Given the description of an element on the screen output the (x, y) to click on. 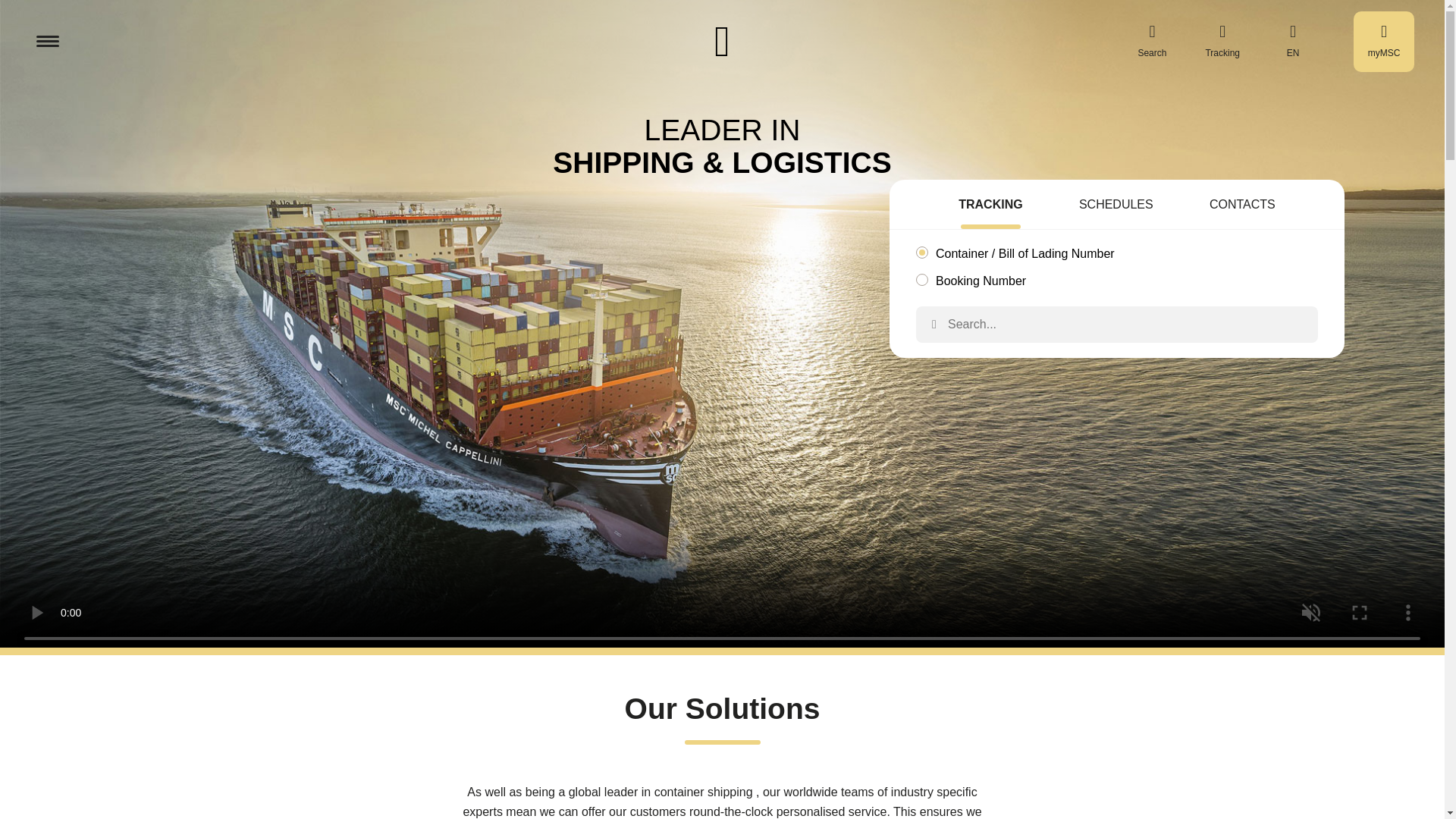
TRACKING (989, 205)
CONTACTS (1241, 205)
SCHEDULES (1116, 205)
